Given the description of an element on the screen output the (x, y) to click on. 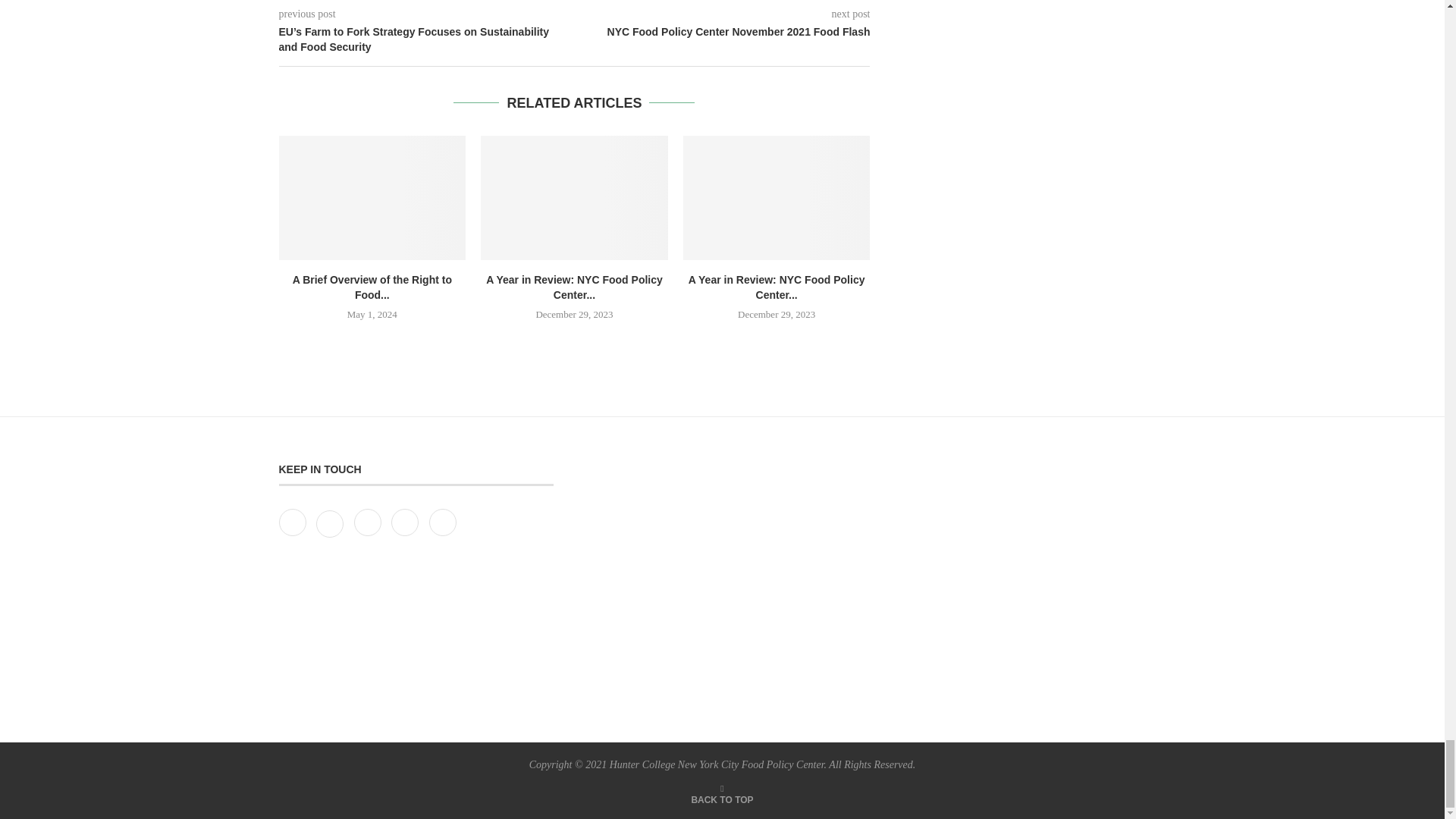
A Brief Overview of the Right to Food in the United States (372, 197)
